Given the description of an element on the screen output the (x, y) to click on. 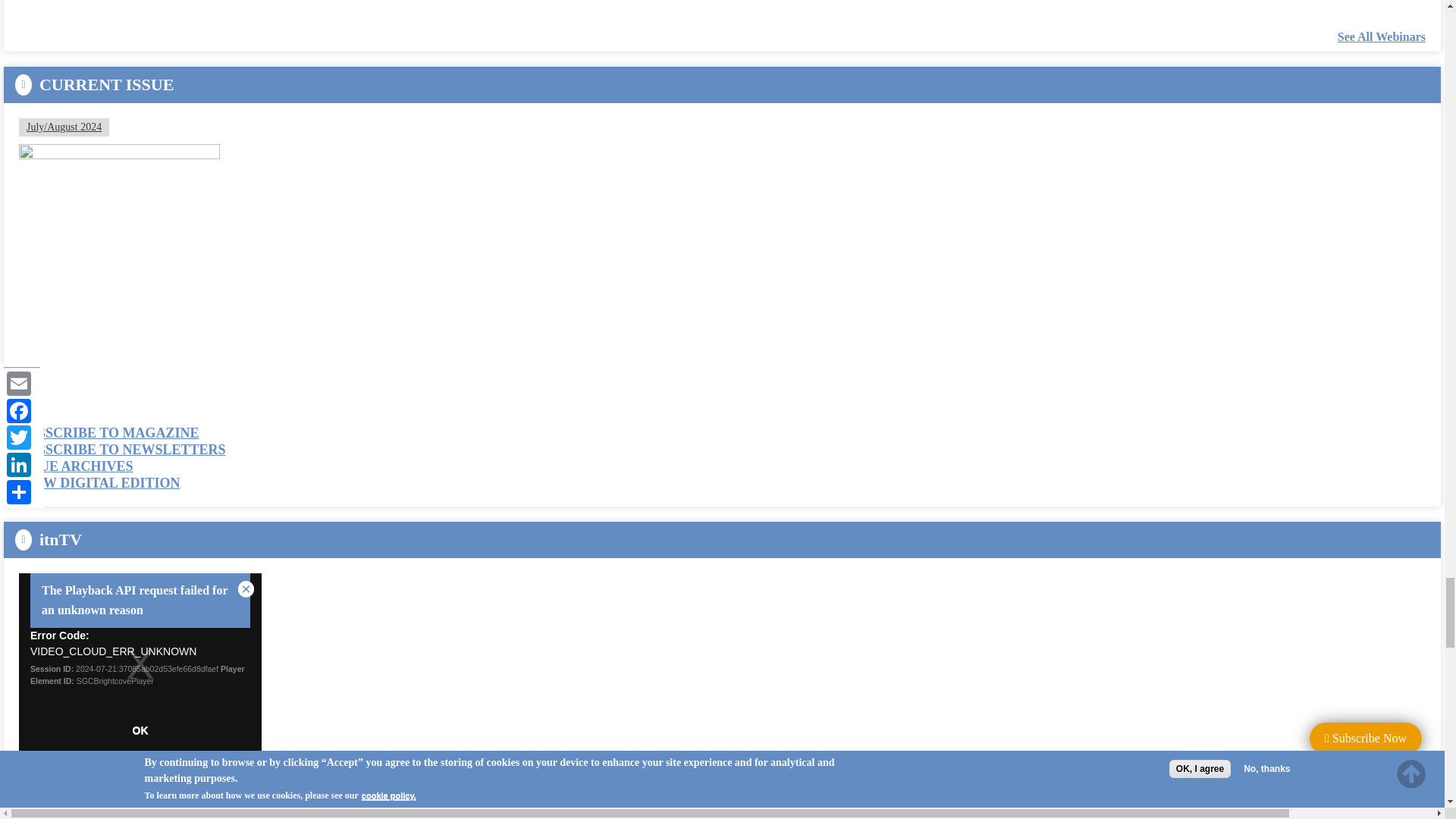
Close Modal Dialog (246, 589)
